Given the description of an element on the screen output the (x, y) to click on. 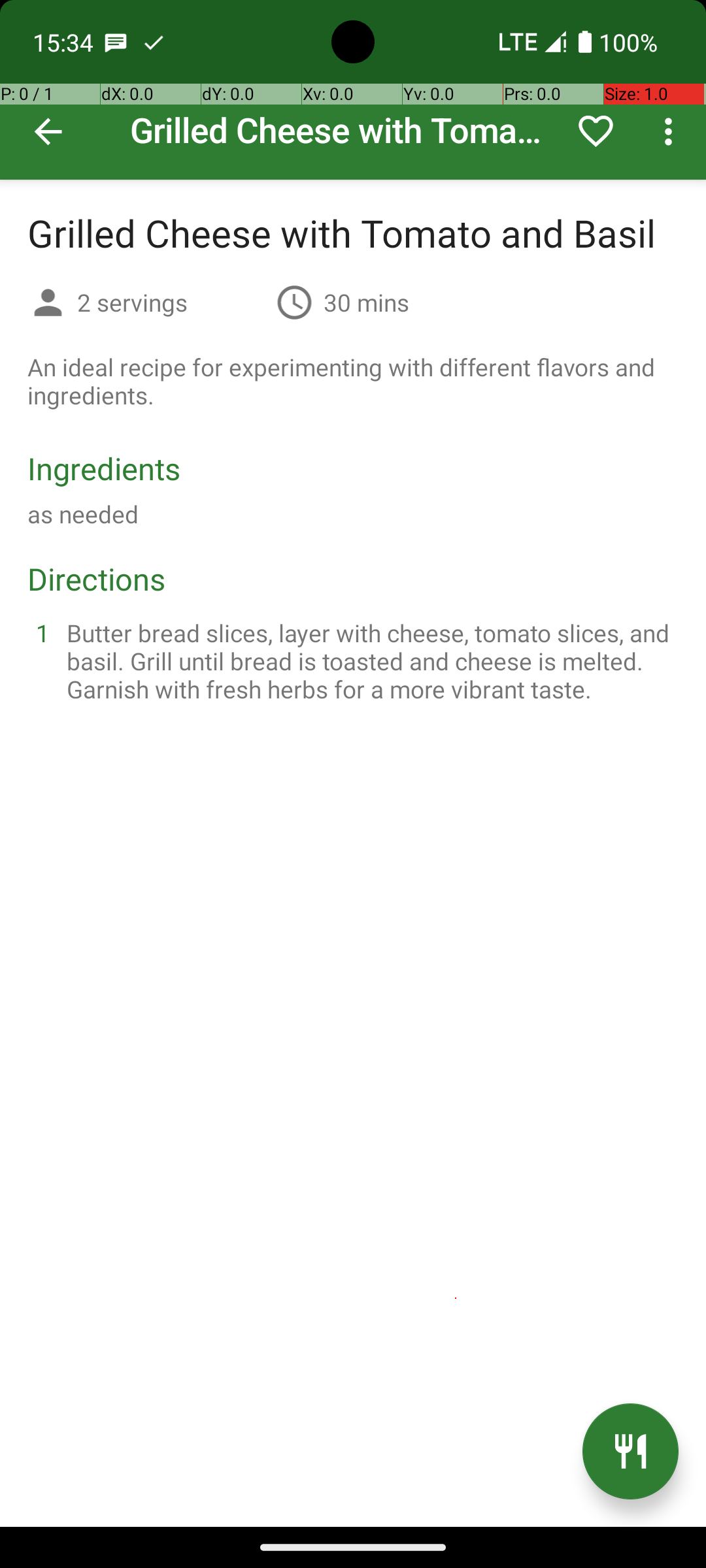
Butter bread slices, layer with cheese, tomato slices, and basil. Grill until bread is toasted and cheese is melted. Garnish with fresh herbs for a more vibrant taste. Element type: android.widget.TextView (368, 660)
